Given the description of an element on the screen output the (x, y) to click on. 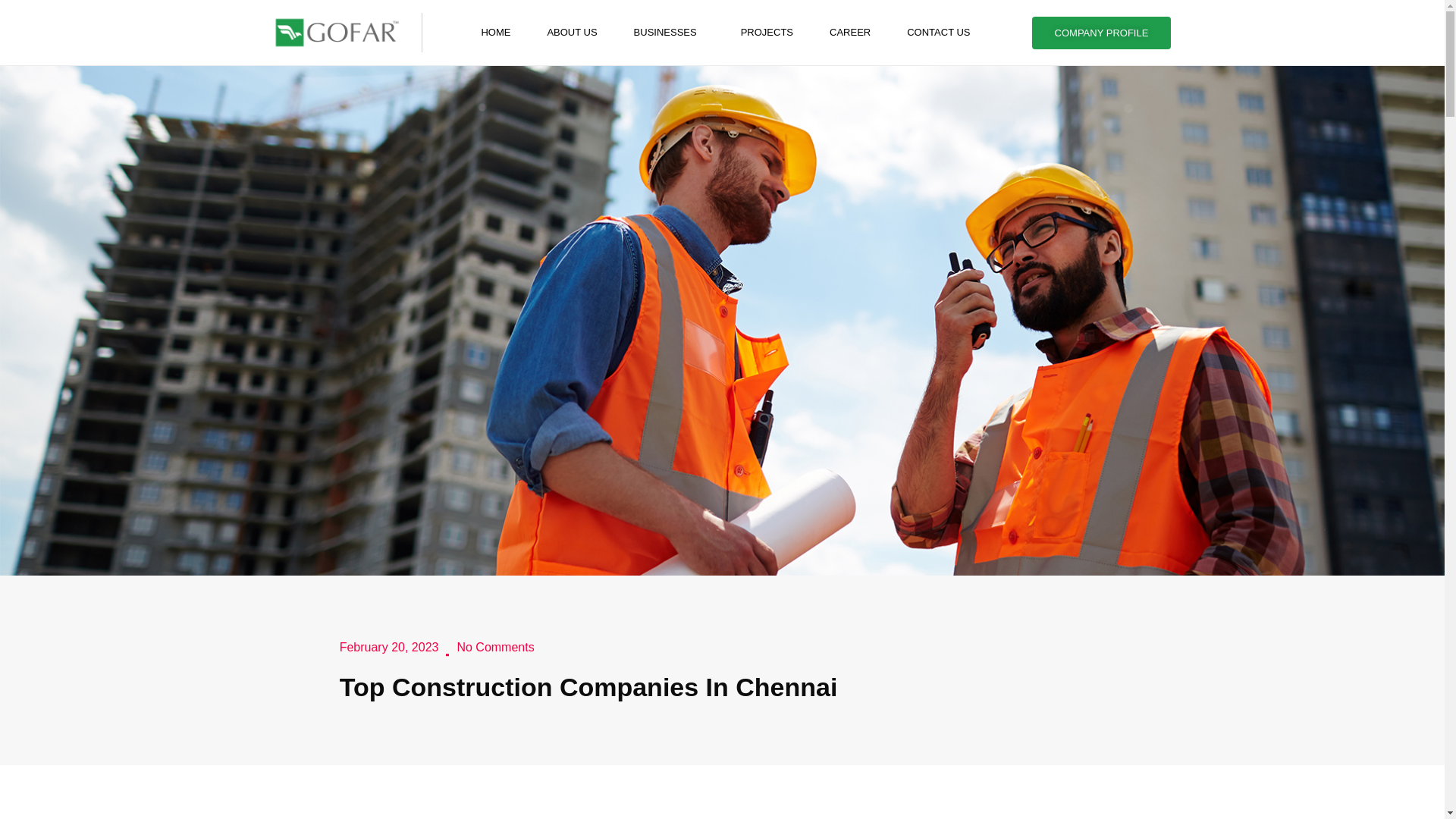
CAREER (849, 32)
PROJECTS (766, 32)
COMPANY PROFILE (1102, 32)
No Comments (495, 647)
February 20, 2023 (389, 647)
ABOUT US (571, 32)
BUSINESSES (668, 32)
HOME (495, 32)
CONTACT US (938, 32)
